Given the description of an element on the screen output the (x, y) to click on. 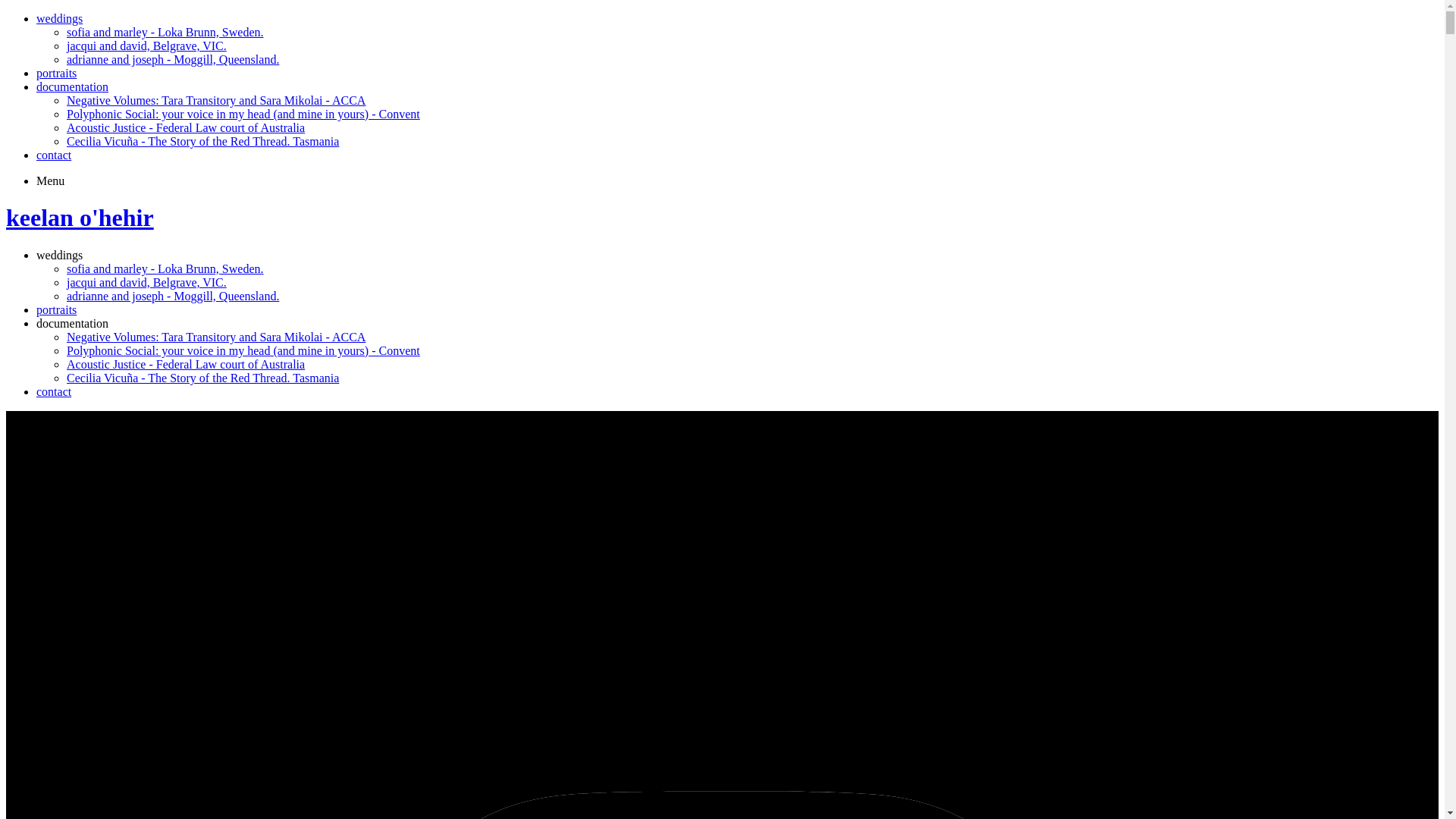
contact Element type: text (53, 154)
sofia and marley - Loka Brunn, Sweden. Element type: text (164, 268)
keelan o'hehir Element type: text (79, 217)
adrianne and joseph - Moggill, Queensland. Element type: text (172, 295)
Acoustic Justice - Federal Law court of Australia Element type: text (185, 127)
portraits Element type: text (56, 309)
weddings Element type: text (59, 254)
portraits Element type: text (56, 72)
jacqui and david, Belgrave, VIC. Element type: text (146, 45)
contact Element type: text (53, 391)
adrianne and joseph - Moggill, Queensland. Element type: text (172, 59)
documentation Element type: text (72, 86)
Menu Element type: text (50, 180)
sofia and marley - Loka Brunn, Sweden. Element type: text (164, 31)
documentation Element type: text (72, 322)
Acoustic Justice - Federal Law court of Australia Element type: text (185, 363)
weddings Element type: text (59, 18)
Negative Volumes: Tara Transitory and Sara Mikolai - ACCA Element type: text (215, 100)
jacqui and david, Belgrave, VIC. Element type: text (146, 282)
Negative Volumes: Tara Transitory and Sara Mikolai - ACCA Element type: text (215, 336)
